Given the description of an element on the screen output the (x, y) to click on. 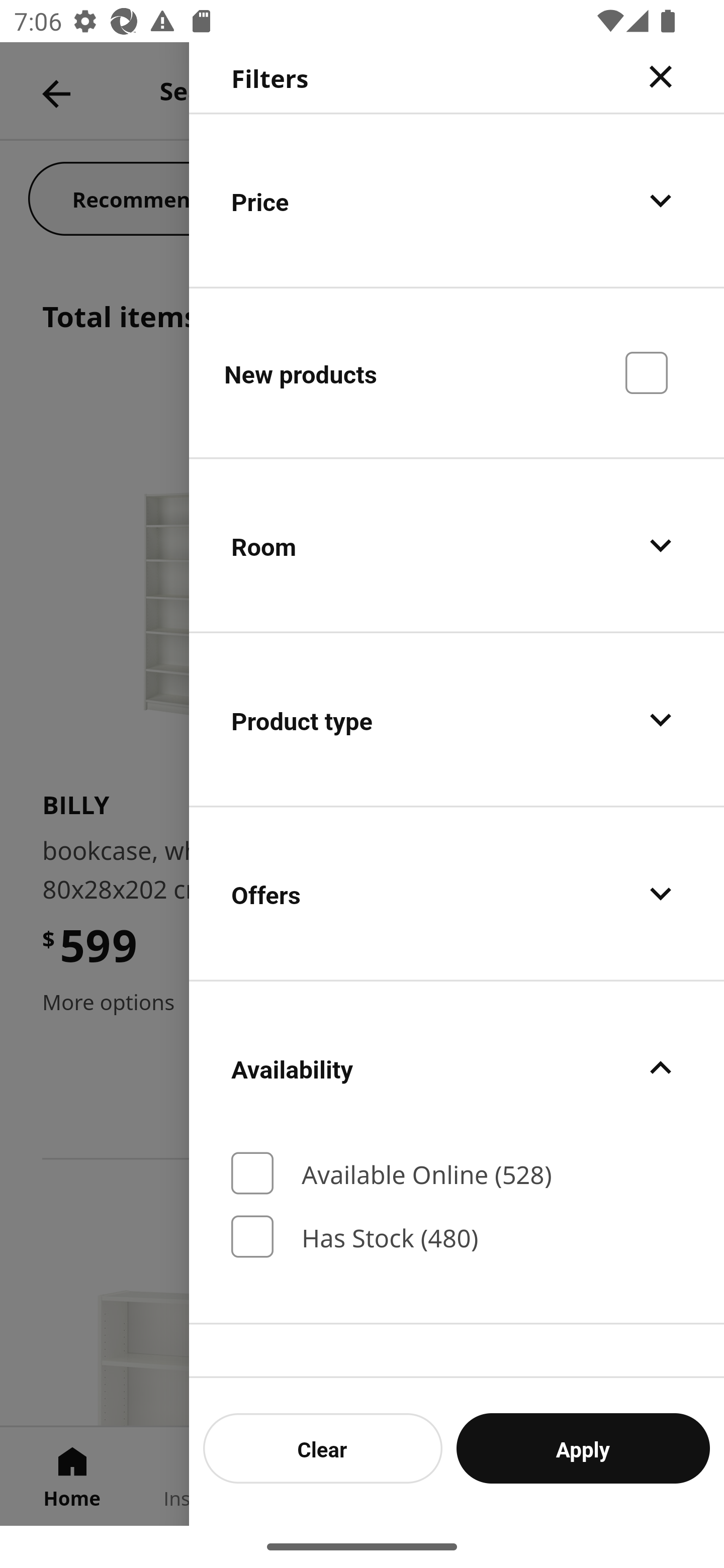
Price (456, 200)
New products (456, 371)
Room (456, 545)
Product type (456, 719)
Offers (456, 893)
Availability (456, 1067)
Available Online (528) (456, 1173)
Has Stock (480) (456, 1236)
Clear (322, 1447)
Apply (583, 1447)
